Given the description of an element on the screen output the (x, y) to click on. 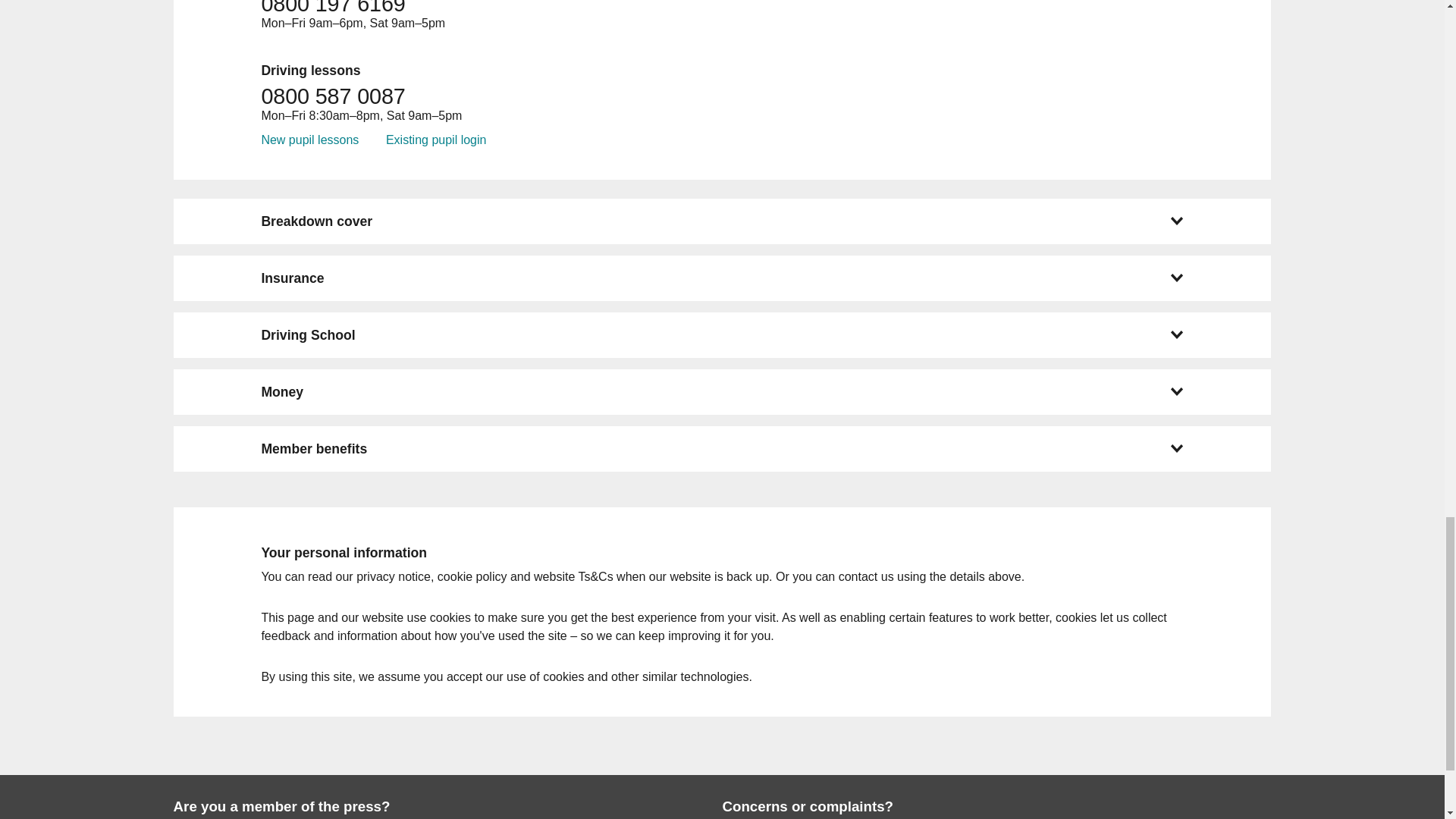
New pupil lessons (309, 140)
Existing pupil login (435, 140)
